Given the description of an element on the screen output the (x, y) to click on. 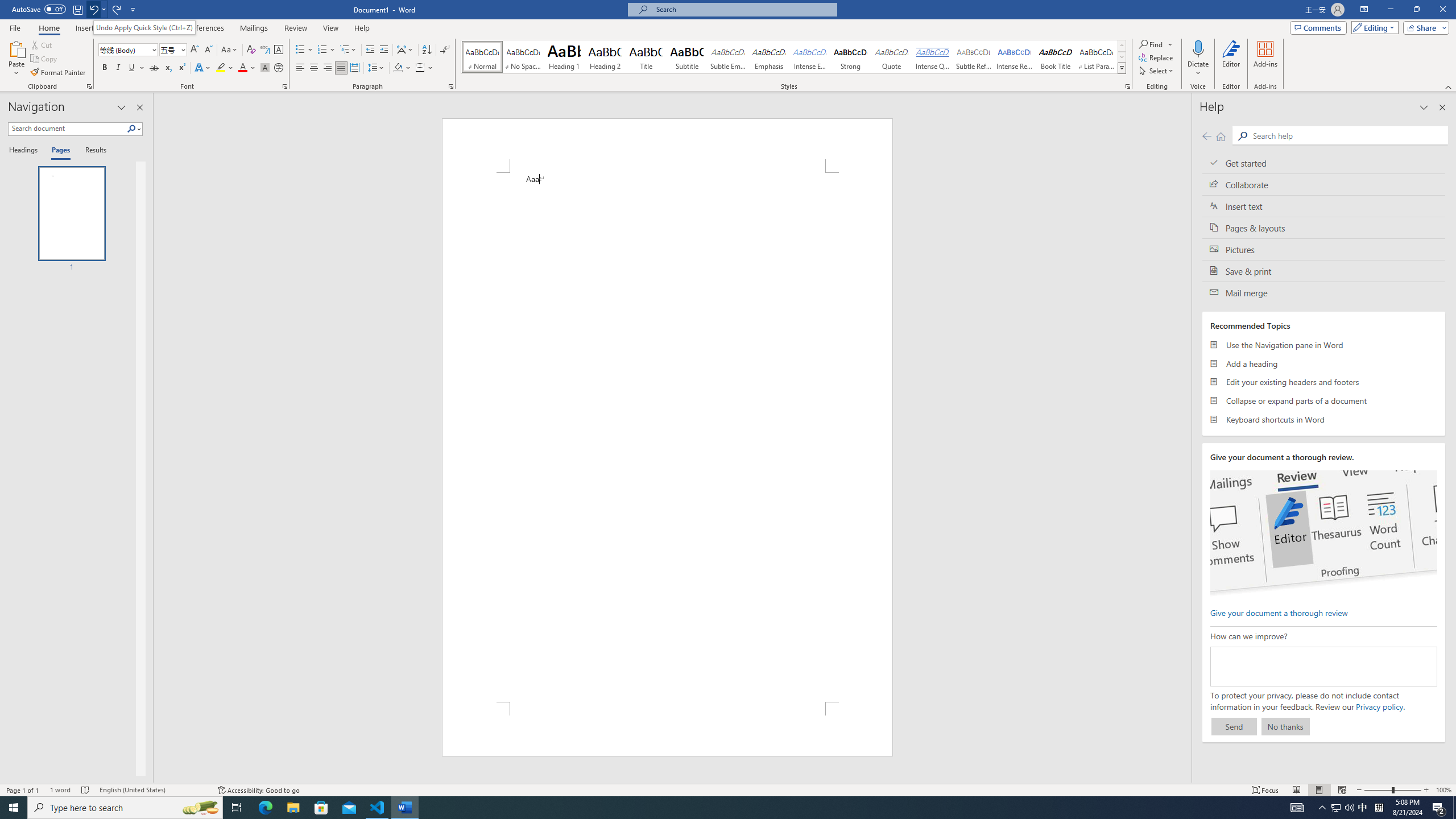
Quote (891, 56)
Undo Apply Quick Style (Ctrl+Z) (144, 27)
Subtle Reference (973, 56)
Emphasis (768, 56)
Get started (1323, 162)
